Given the description of an element on the screen output the (x, y) to click on. 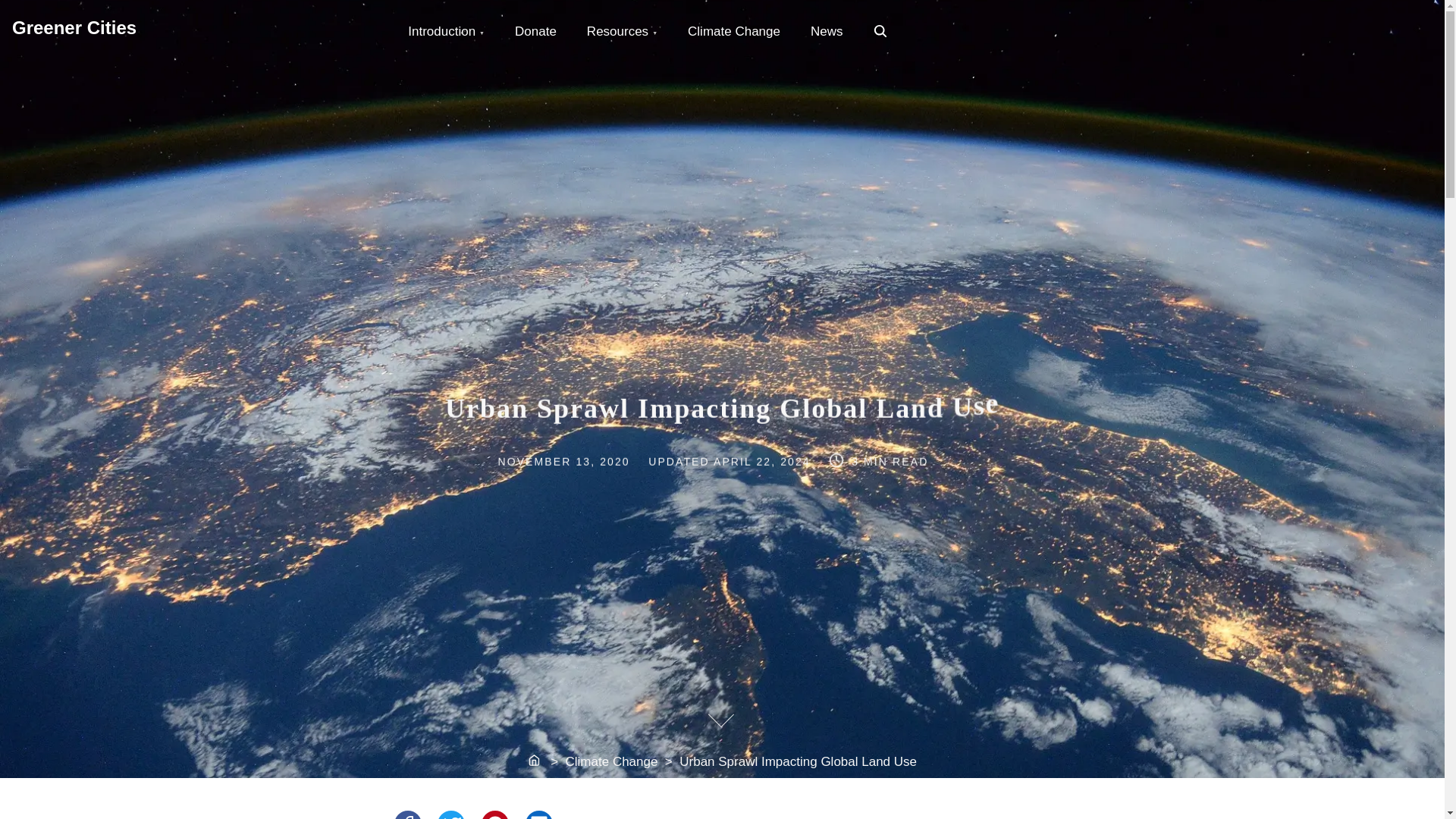
NOVEMBER 13, 2020 (571, 460)
Share this post on Twitter (451, 814)
Climate Change (733, 31)
Resources (622, 31)
Share this post on Pinterest (494, 814)
News (881, 31)
Donate (826, 31)
Share this post on Linkedin (535, 31)
Introduction (539, 814)
Search (446, 31)
Greener Cities (880, 30)
Home (73, 26)
APRIL 22, 2024 (535, 761)
Share this post on Facebook (761, 460)
